Given the description of an element on the screen output the (x, y) to click on. 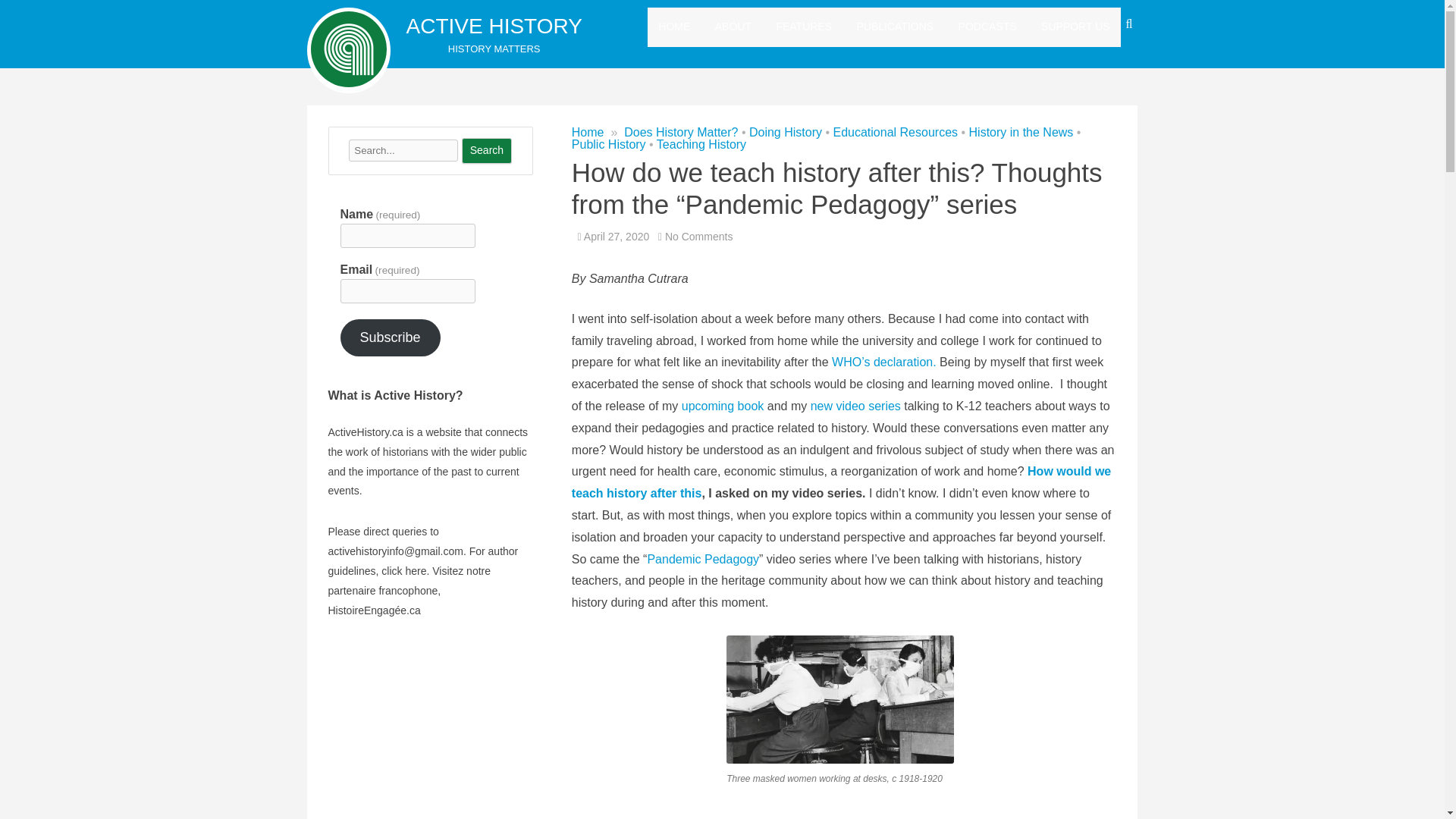
History in the News (1021, 132)
SUPPORT US (1075, 26)
Does History Matter? (681, 132)
Doing History (785, 132)
FEATURES (803, 26)
PUBLICATIONS (895, 26)
ACTIVE HISTORY (494, 26)
Public History (609, 144)
new video series (855, 405)
Active History (494, 26)
